Given the description of an element on the screen output the (x, y) to click on. 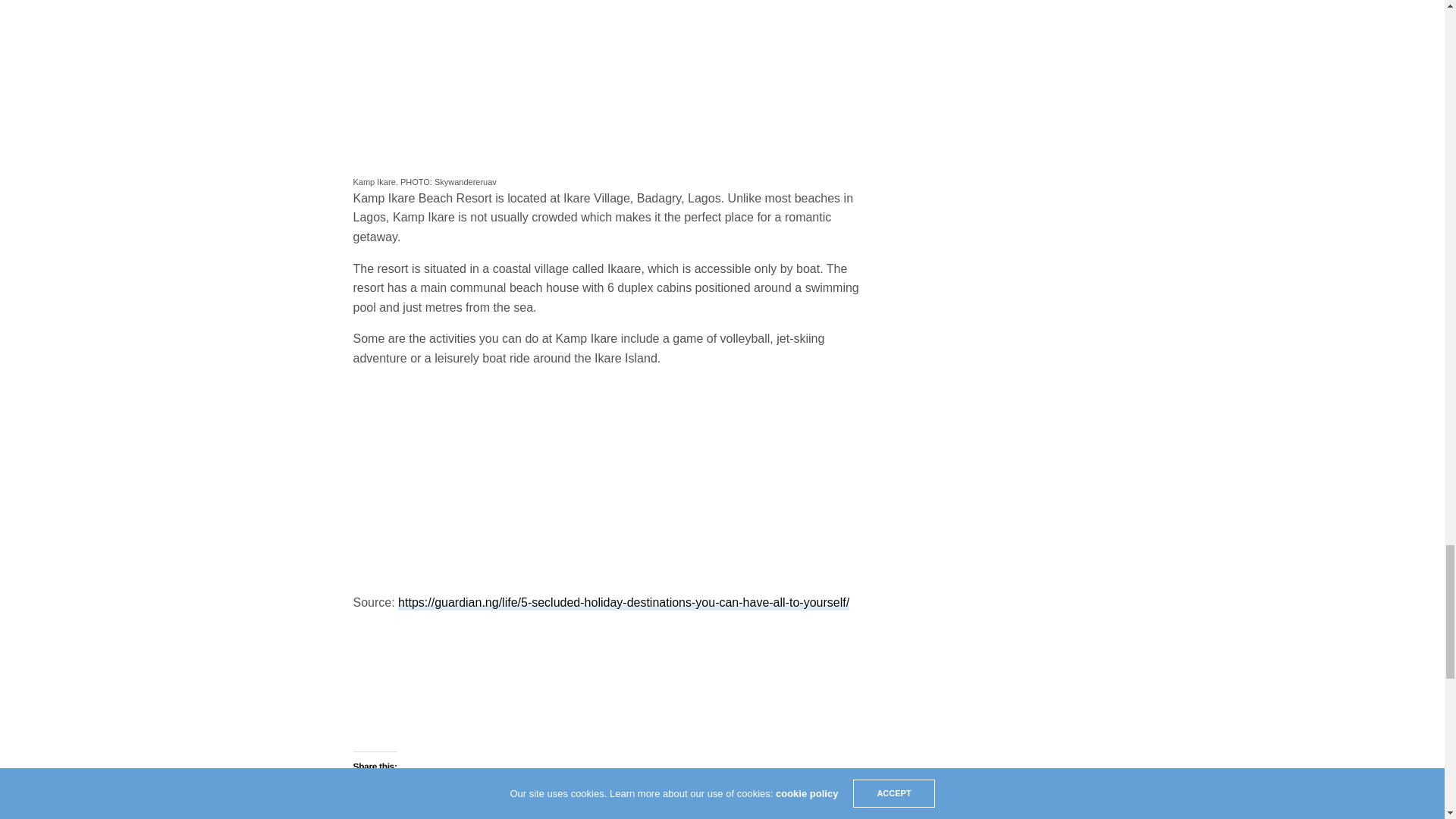
Click to share on Twitter (365, 793)
Click to share on Facebook (395, 793)
